Given the description of an element on the screen output the (x, y) to click on. 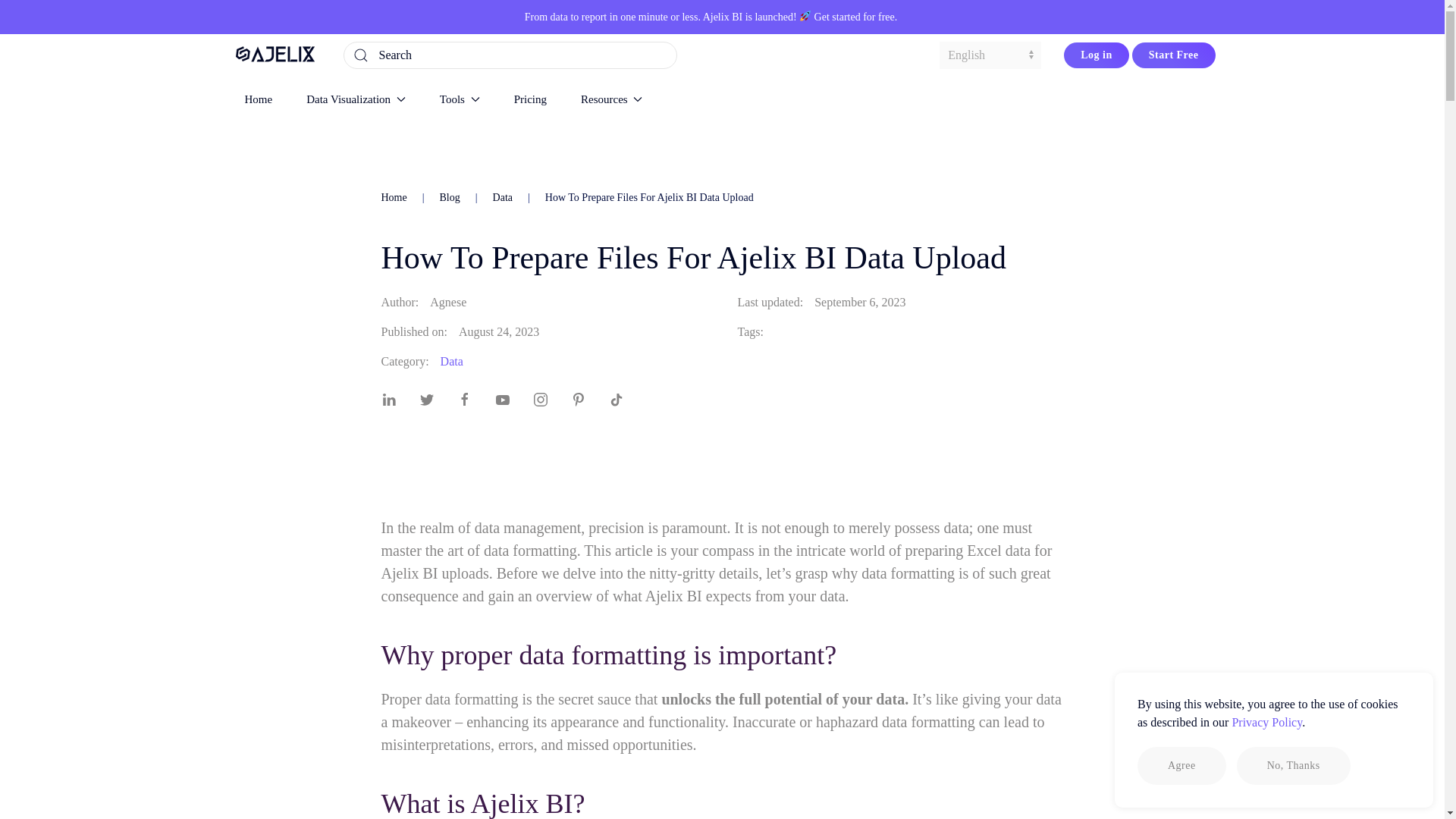
Start Free (1173, 54)
Home (257, 98)
Log in (1096, 54)
Get started for free. (855, 16)
Ajelix BI (722, 16)
